Given the description of an element on the screen output the (x, y) to click on. 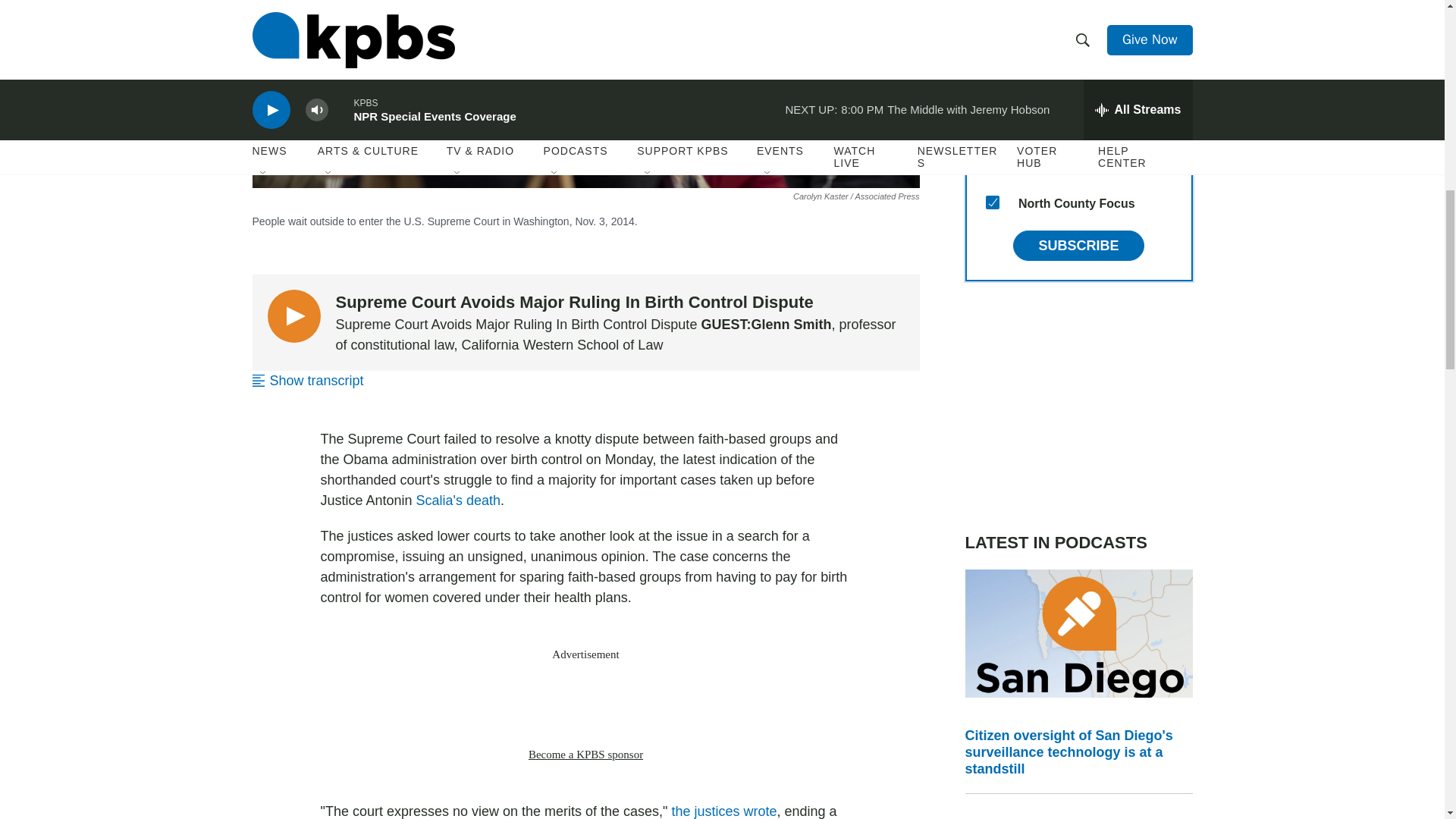
8 (991, 165)
2 (991, 92)
6 (991, 56)
5 (991, 20)
15 (991, 202)
3rd party ad content (584, 704)
3rd party ad content (1077, 406)
1 (991, 129)
